Given the description of an element on the screen output the (x, y) to click on. 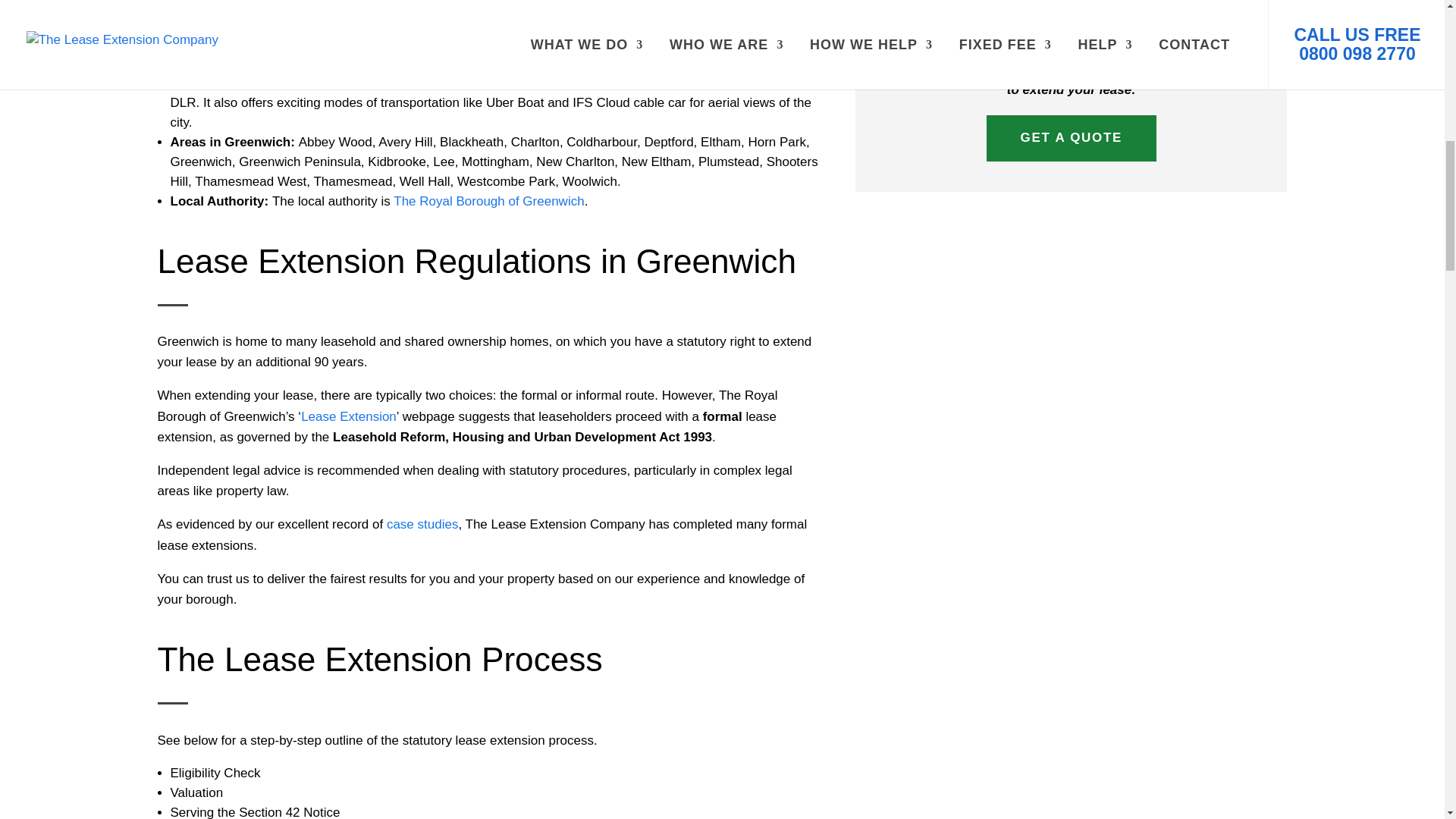
case studies (422, 523)
Lease Extension (348, 416)
The Royal Borough of Greenwich (488, 201)
